Given the description of an element on the screen output the (x, y) to click on. 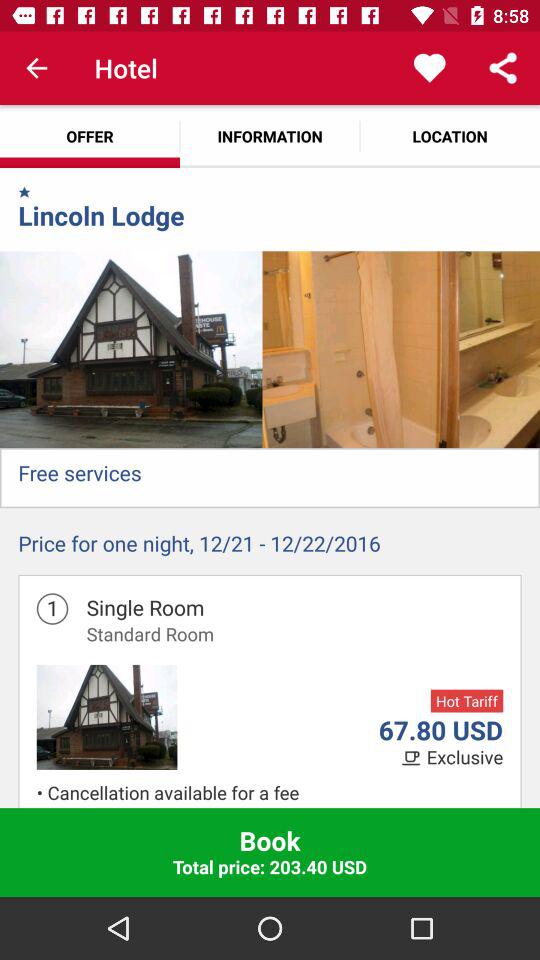
click the icon next to 1 icon (150, 633)
